Given the description of an element on the screen output the (x, y) to click on. 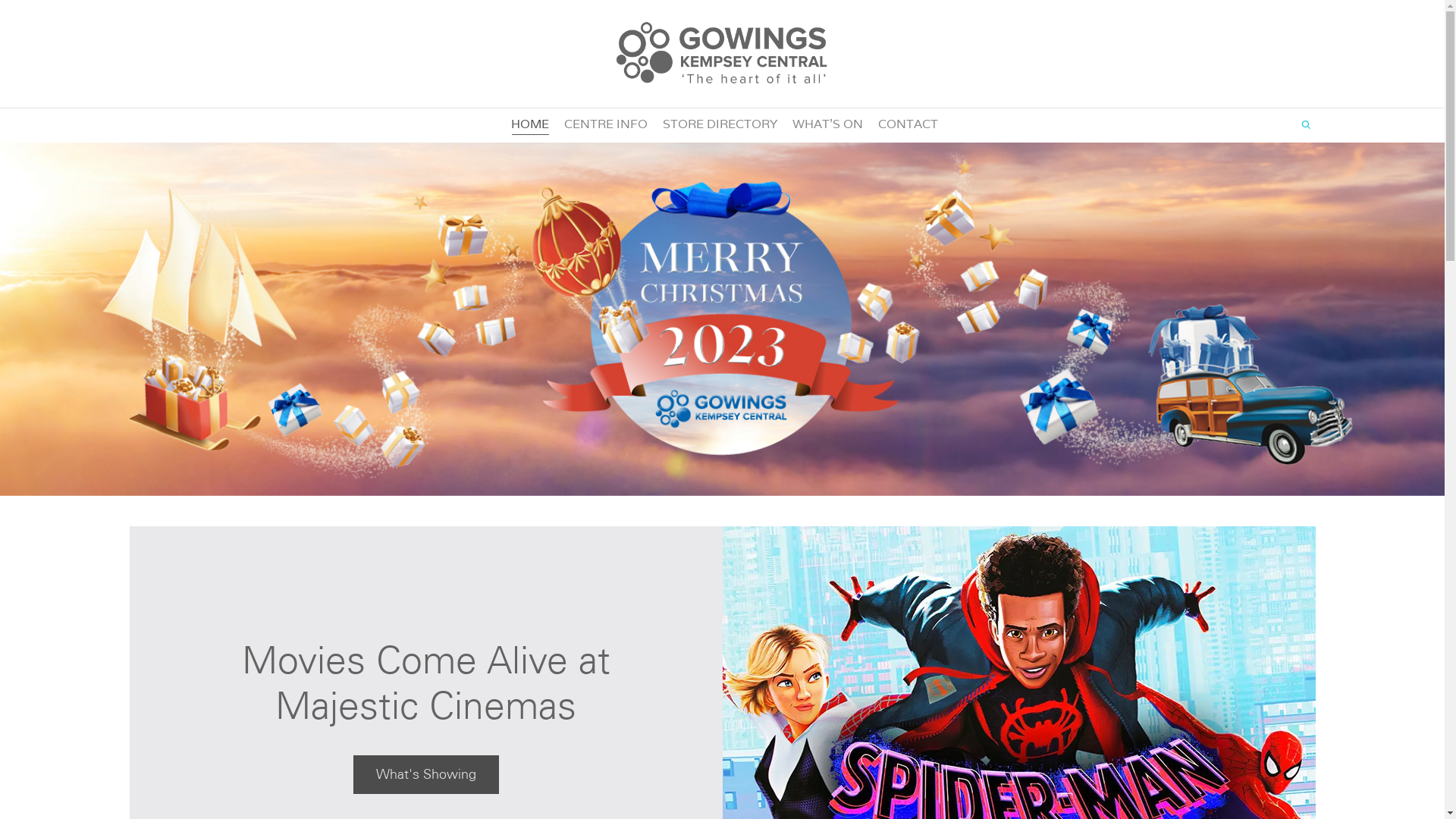
STORE DIRECTORY Element type: text (719, 124)
CONTACT Element type: text (908, 124)
CENTRE INFO Element type: text (605, 124)
What's Showing Element type: text (425, 774)
HOME Element type: text (530, 124)
